Given the description of an element on the screen output the (x, y) to click on. 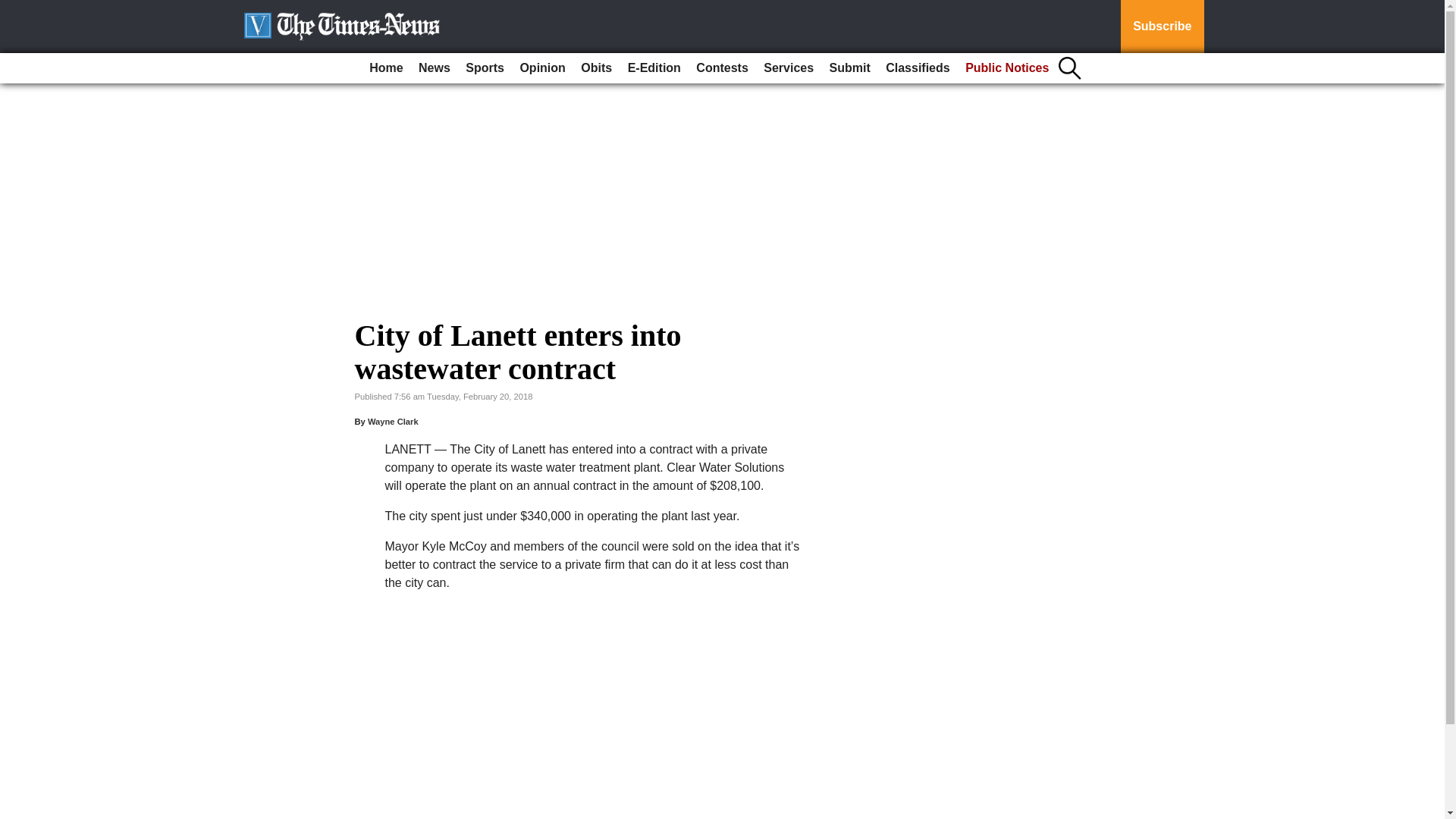
Wayne Clark (393, 420)
Contests (722, 68)
Subscribe (1162, 26)
E-Edition (654, 68)
Public Notices (1006, 68)
Submit (850, 68)
Home (385, 68)
Services (788, 68)
Go (13, 9)
News (434, 68)
